Given the description of an element on the screen output the (x, y) to click on. 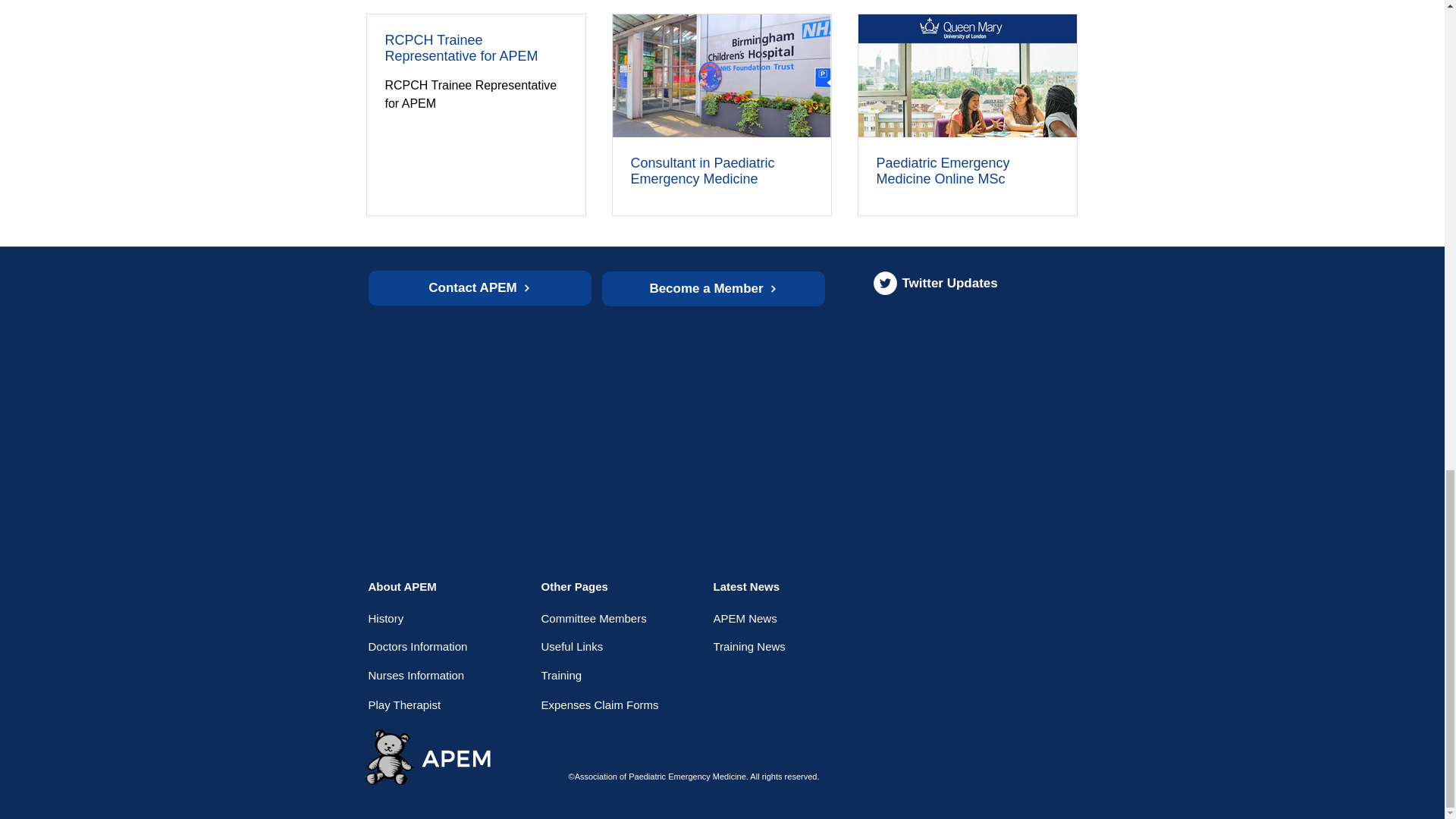
Paediatric Emergency Medicine Online MSc (967, 171)
RCPCH Trainee Representative for APEM (476, 48)
Committee Members (603, 618)
Training (603, 675)
Training News (775, 646)
Expenses Claim Forms (603, 704)
Nurses Information (425, 675)
Play Therapist (425, 704)
Become a Member (713, 288)
Consultant in Paediatric Emergency Medicine (721, 171)
Doctors Information (422, 646)
Useful Links (603, 646)
APEM News (775, 618)
History (422, 618)
Contact APEM (479, 288)
